Given the description of an element on the screen output the (x, y) to click on. 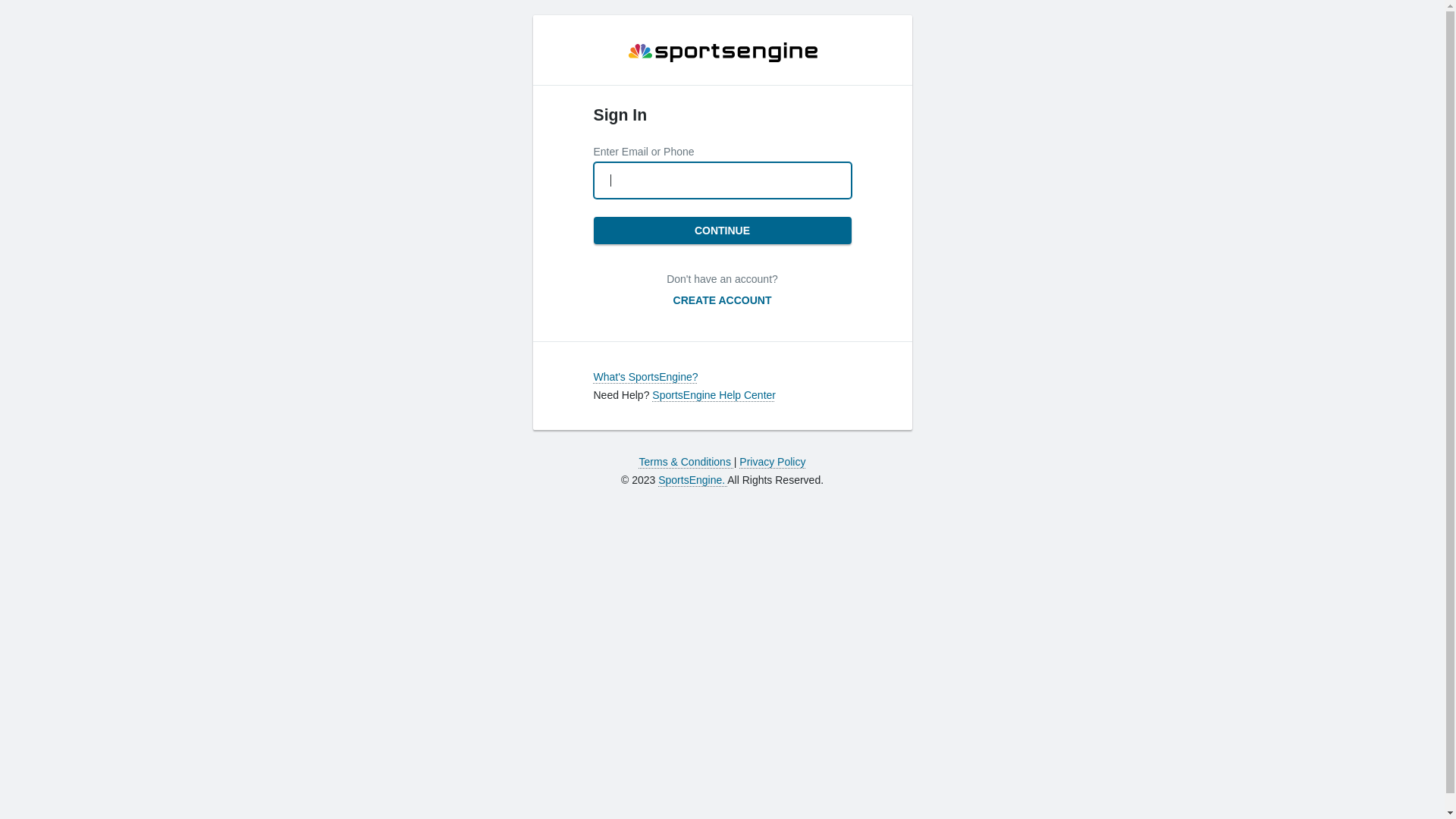
Continue Element type: text (721, 230)
CREATE ACCOUNT Element type: text (722, 299)
What's SportsEngine? Element type: text (645, 376)
Terms & Conditions Element type: text (686, 461)
Privacy Policy Element type: text (772, 461)
SportsEngine. Element type: text (692, 479)
SportsEngine Help Center Element type: text (713, 395)
